Given the description of an element on the screen output the (x, y) to click on. 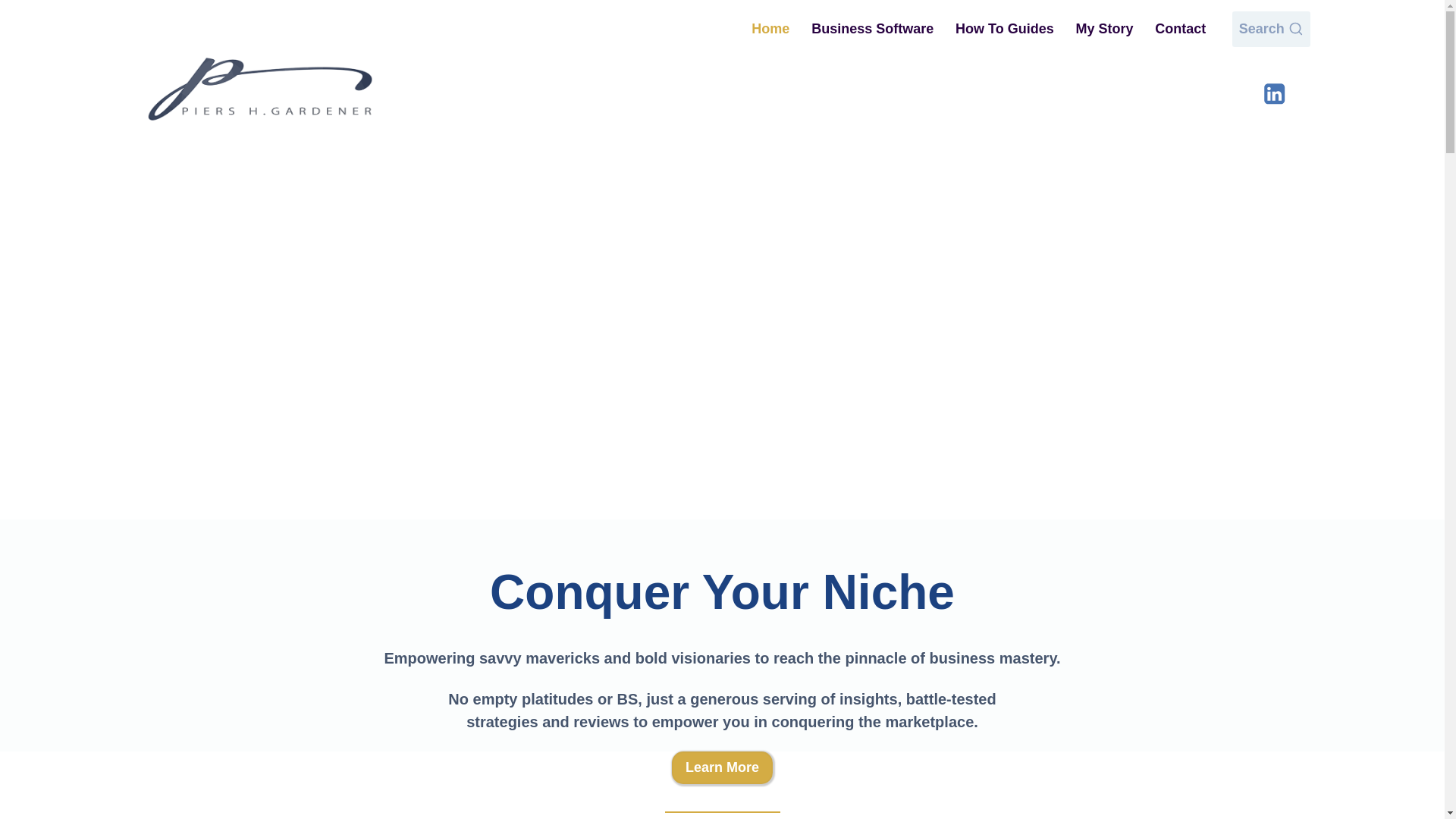
How To Guides (1004, 29)
Business Software (872, 29)
Contact (1180, 29)
Learn More (722, 767)
Home (770, 29)
My Story (1104, 29)
Search (1270, 28)
